Given the description of an element on the screen output the (x, y) to click on. 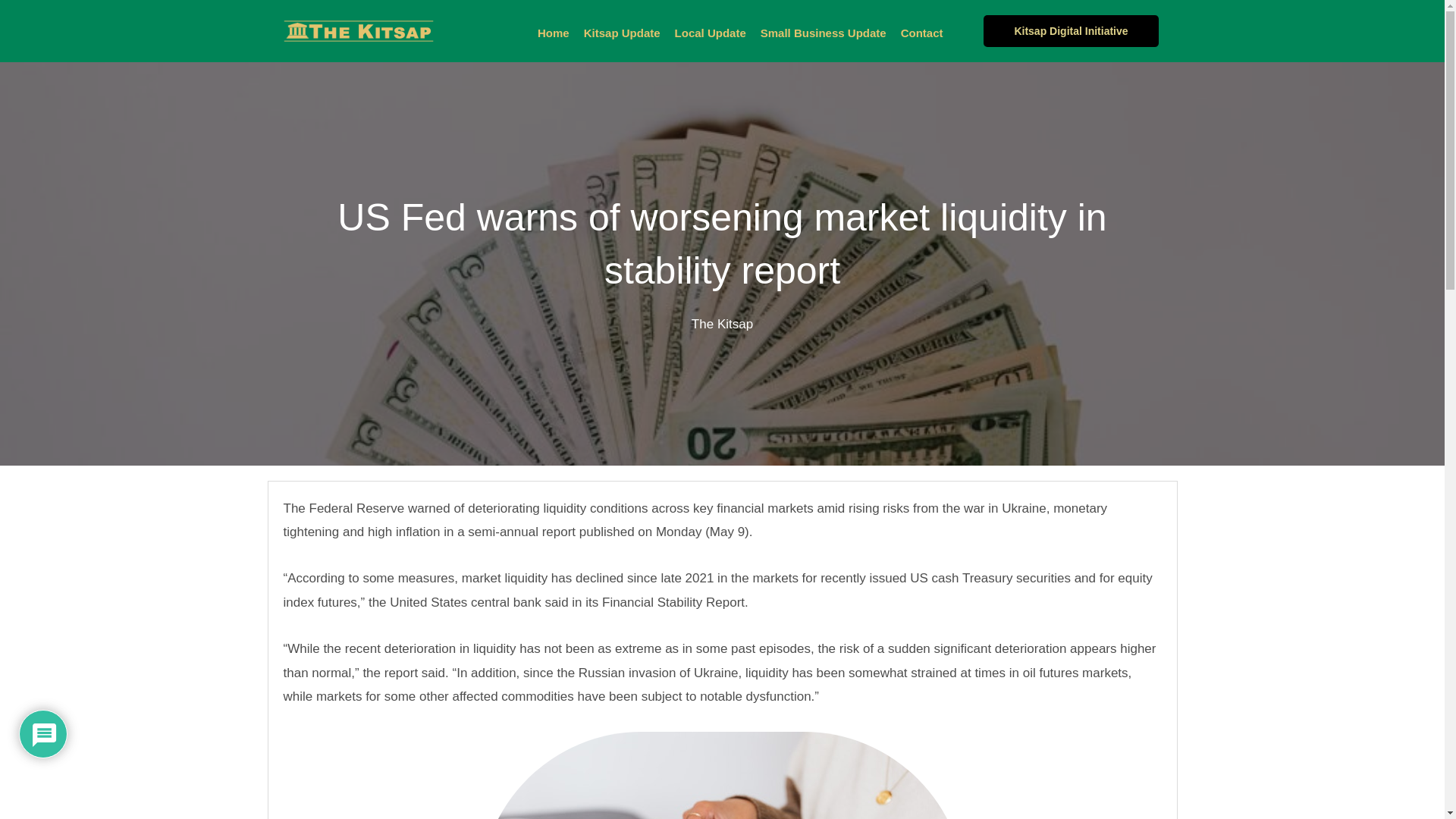
Kitsap Update (621, 32)
Local Update (710, 32)
Home (553, 32)
TheKitsap Logo Text (357, 30)
The Kitsap (721, 323)
Kitsap Digital Initiative (1070, 30)
Small Business Update (823, 32)
Contact (921, 32)
